Given the description of an element on the screen output the (x, y) to click on. 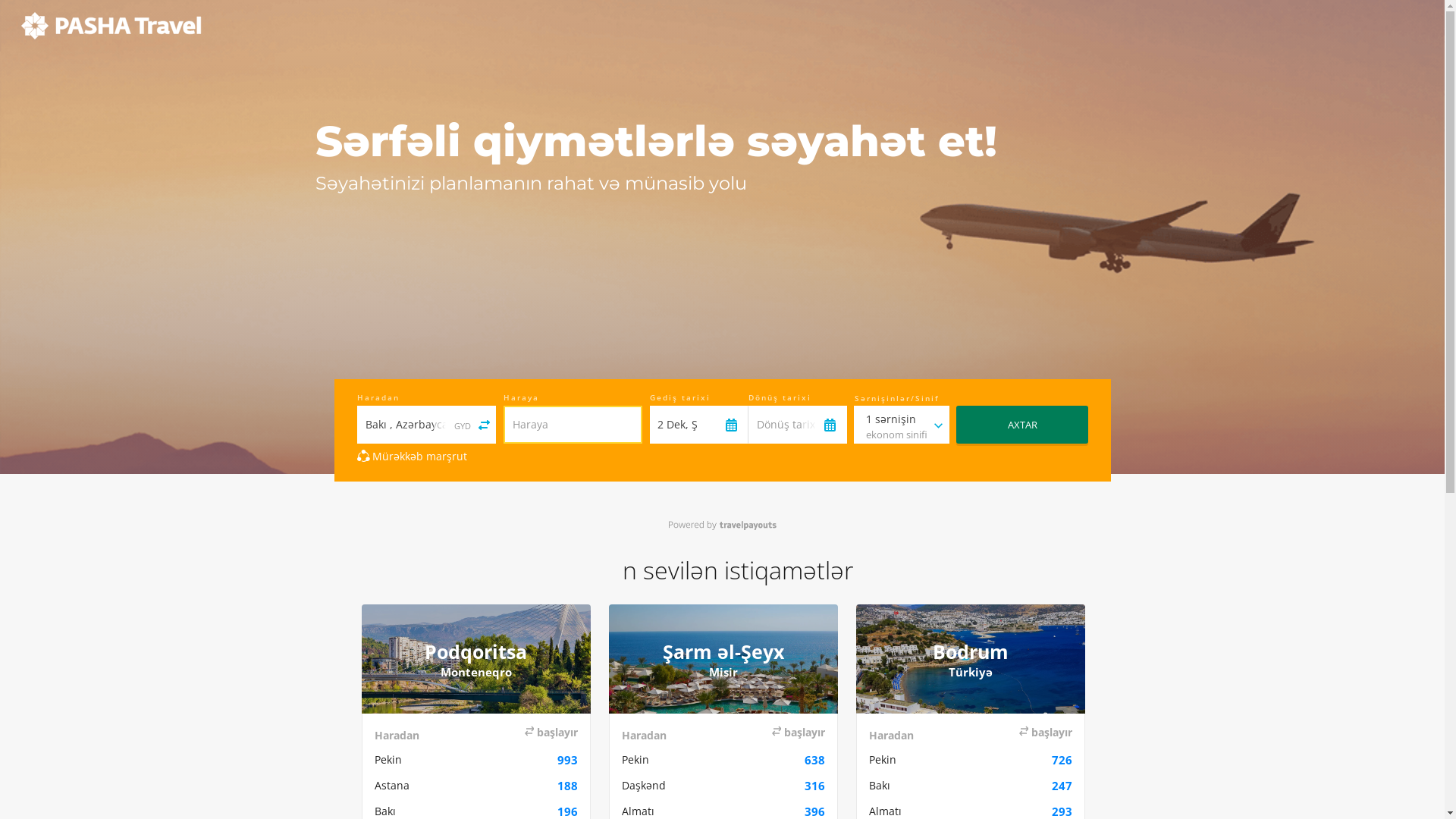
AXTAR Element type: text (1022, 424)
